Given the description of an element on the screen output the (x, y) to click on. 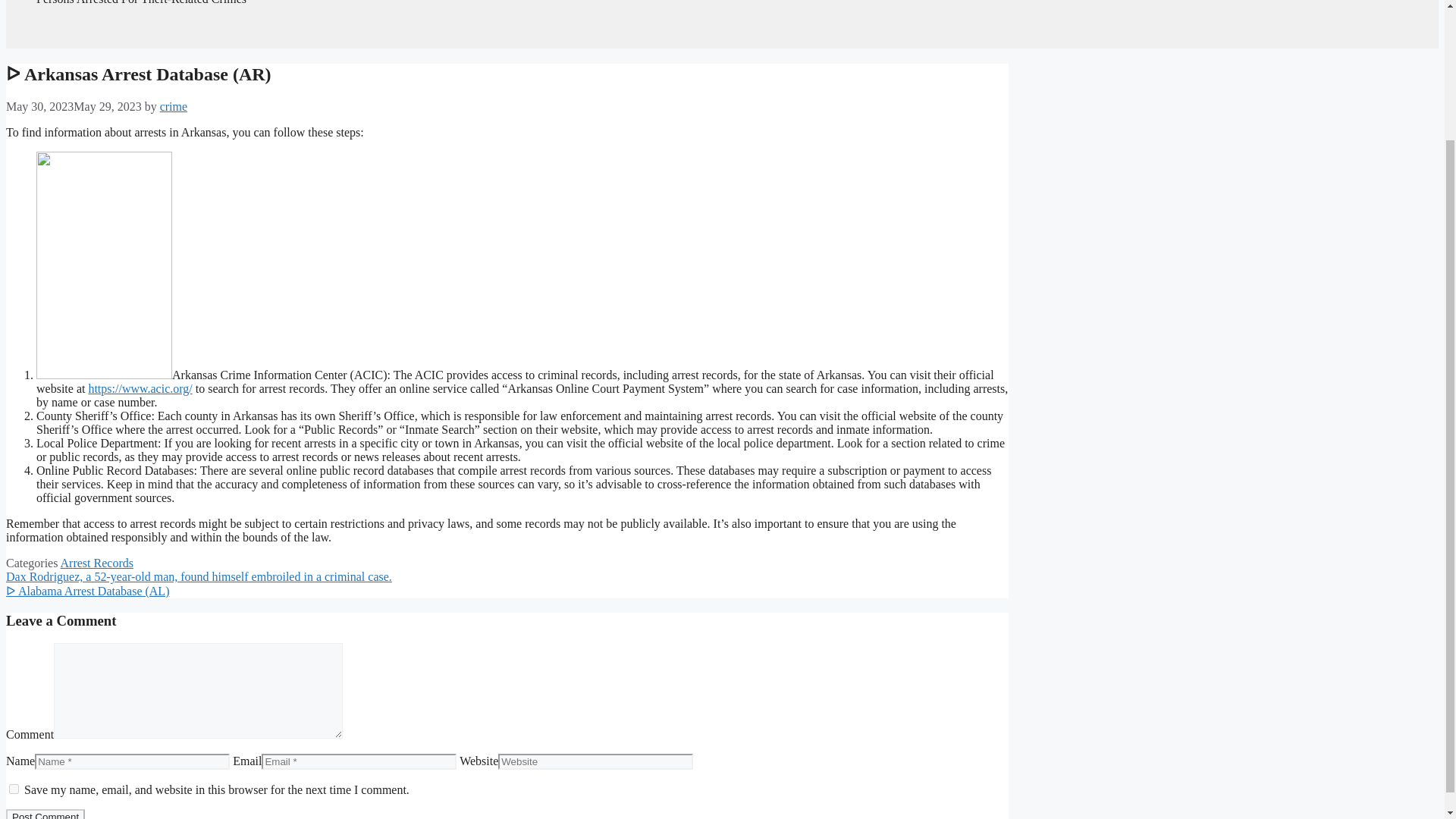
crime (173, 106)
yes (13, 788)
Arrest Records (97, 562)
View all posts by crime (173, 106)
